Given the description of an element on the screen output the (x, y) to click on. 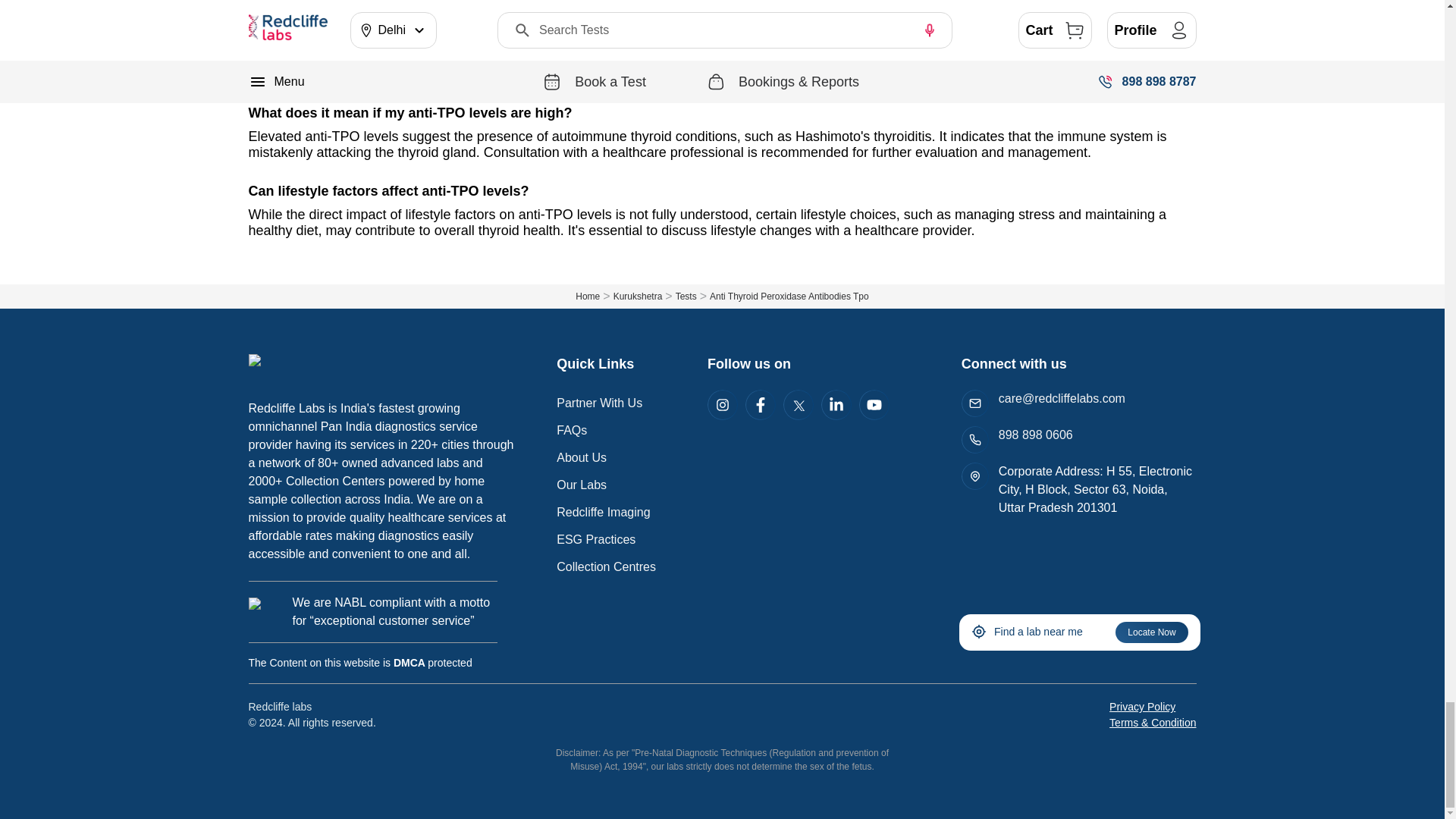
Anti Thyroid Peroxidase Antibodies Tpo (789, 296)
FAQs (571, 430)
Locate Now (1151, 631)
Privacy Policy (1141, 706)
Tests (692, 296)
DMCA (410, 662)
About Us (581, 457)
Redcliffe Imaging (602, 512)
DMCA.com Protection Status (410, 662)
Collection Centres (606, 566)
Partner With Us (599, 402)
Our Labs (581, 484)
ESG Practices (595, 539)
Kurukshetra (643, 296)
